Given the description of an element on the screen output the (x, y) to click on. 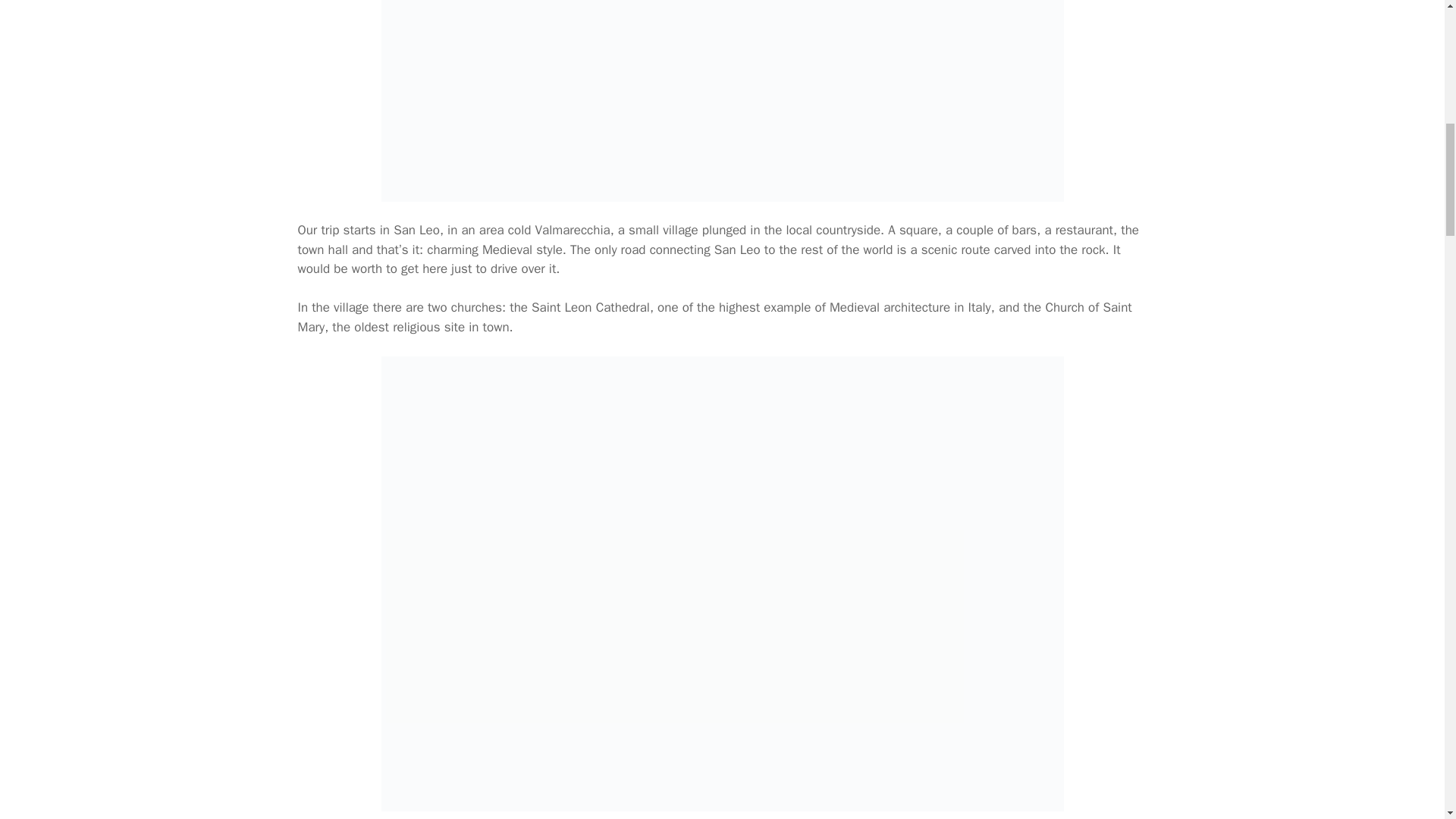
Scroll back to top (1406, 720)
